Given the description of an element on the screen output the (x, y) to click on. 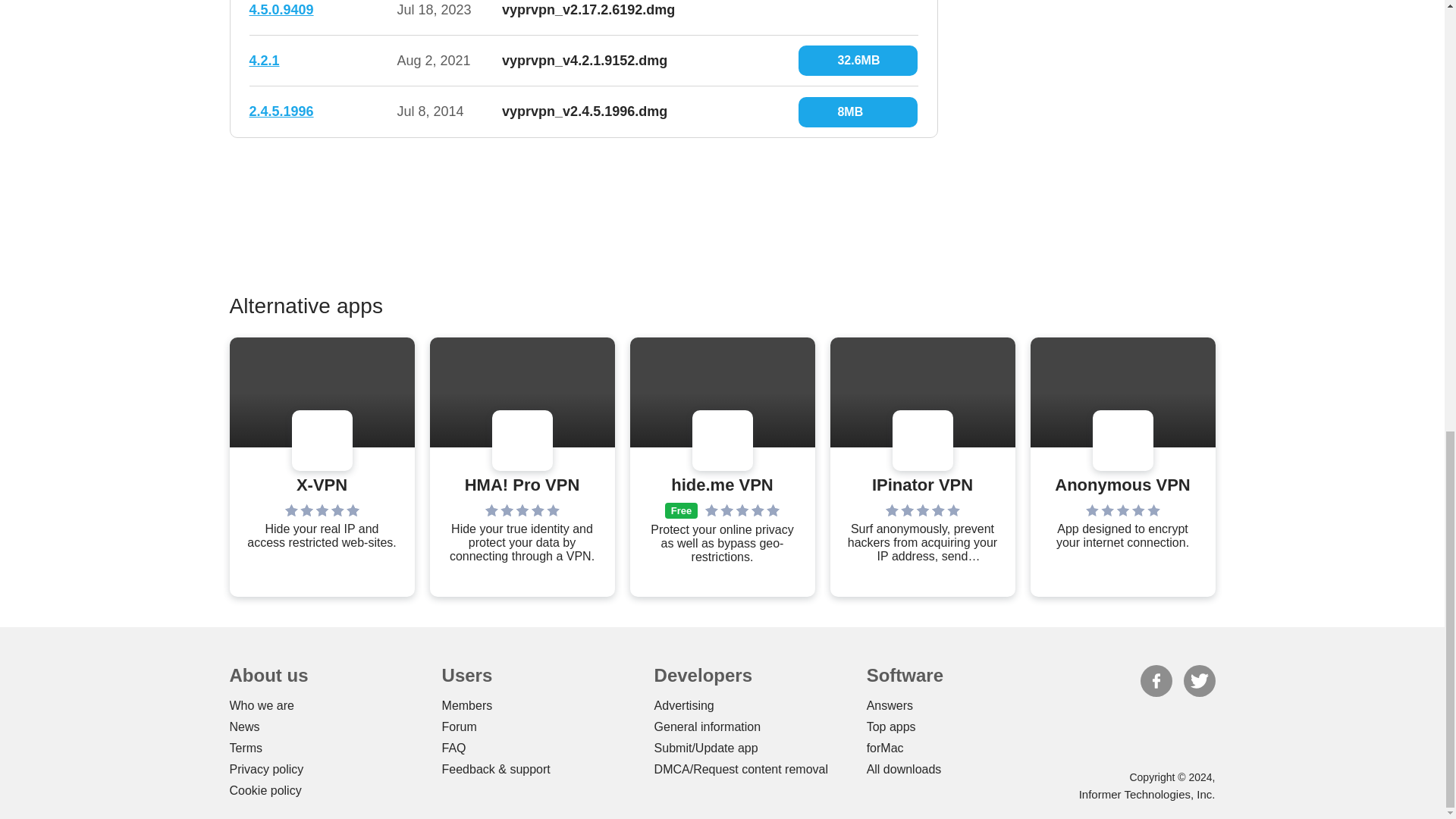
VyprVPN 2.4 info (280, 111)
Download hide.me VPN (722, 485)
X-VPN (322, 485)
Download Anonymous VPN (1121, 485)
VyprVPN 4.2 info (263, 60)
Download X-VPN (322, 485)
32.6MB (857, 60)
Download IPinator VPN (922, 485)
4.2.1 (263, 60)
VyprVPN 4.5 info (280, 8)
Download HMA! Pro VPN (521, 485)
VyprVPN 4.2 download and install (857, 60)
VyprVPN 2.4 download and install (857, 112)
4.5.0.9409 (280, 8)
